Given the description of an element on the screen output the (x, y) to click on. 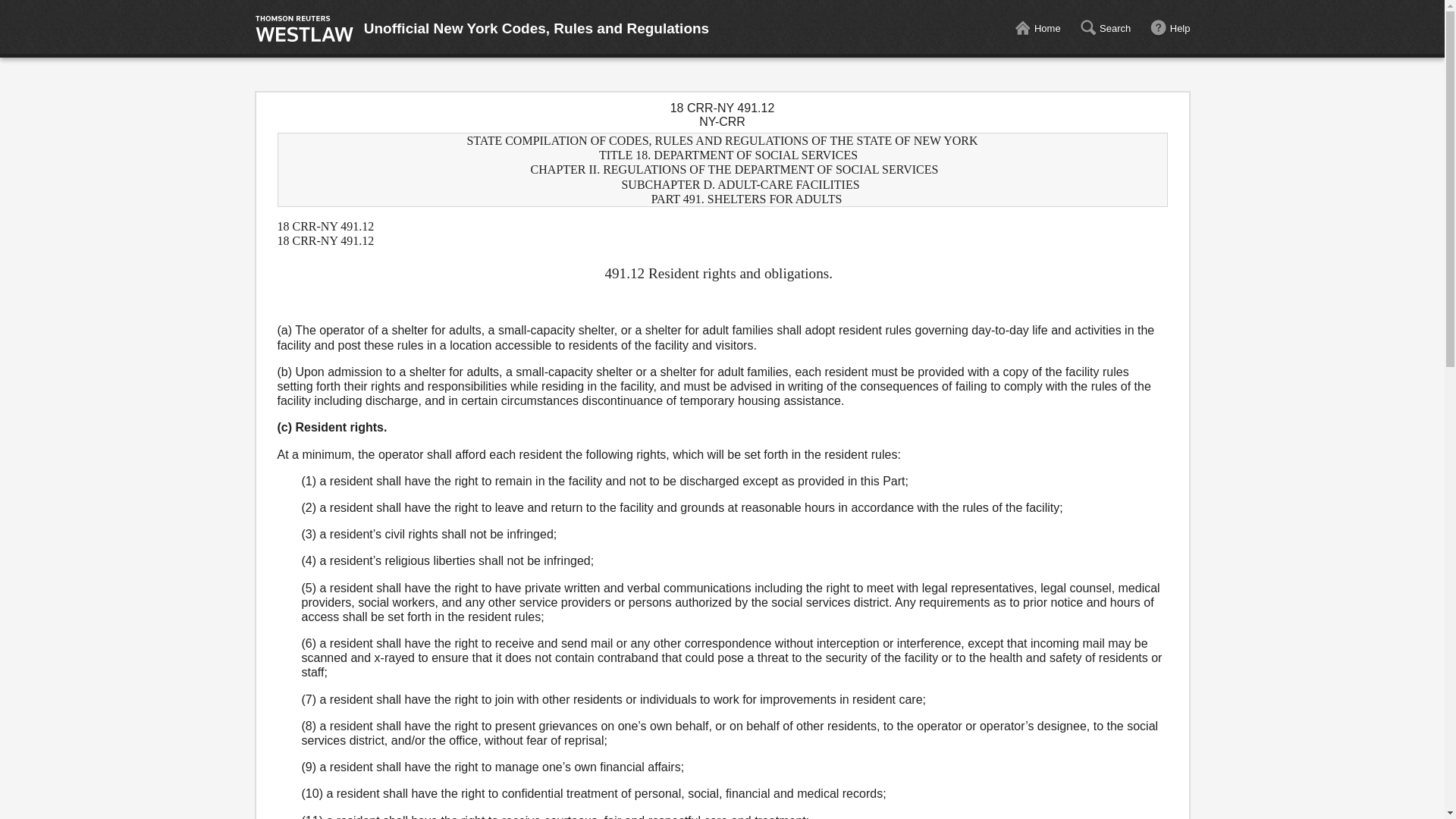
Help (1170, 28)
Thomson Reuters Westlaw (303, 28)
Unofficial New York Codes, Rules and Regulations (536, 28)
Home (1037, 28)
Search (1104, 28)
